Given the description of an element on the screen output the (x, y) to click on. 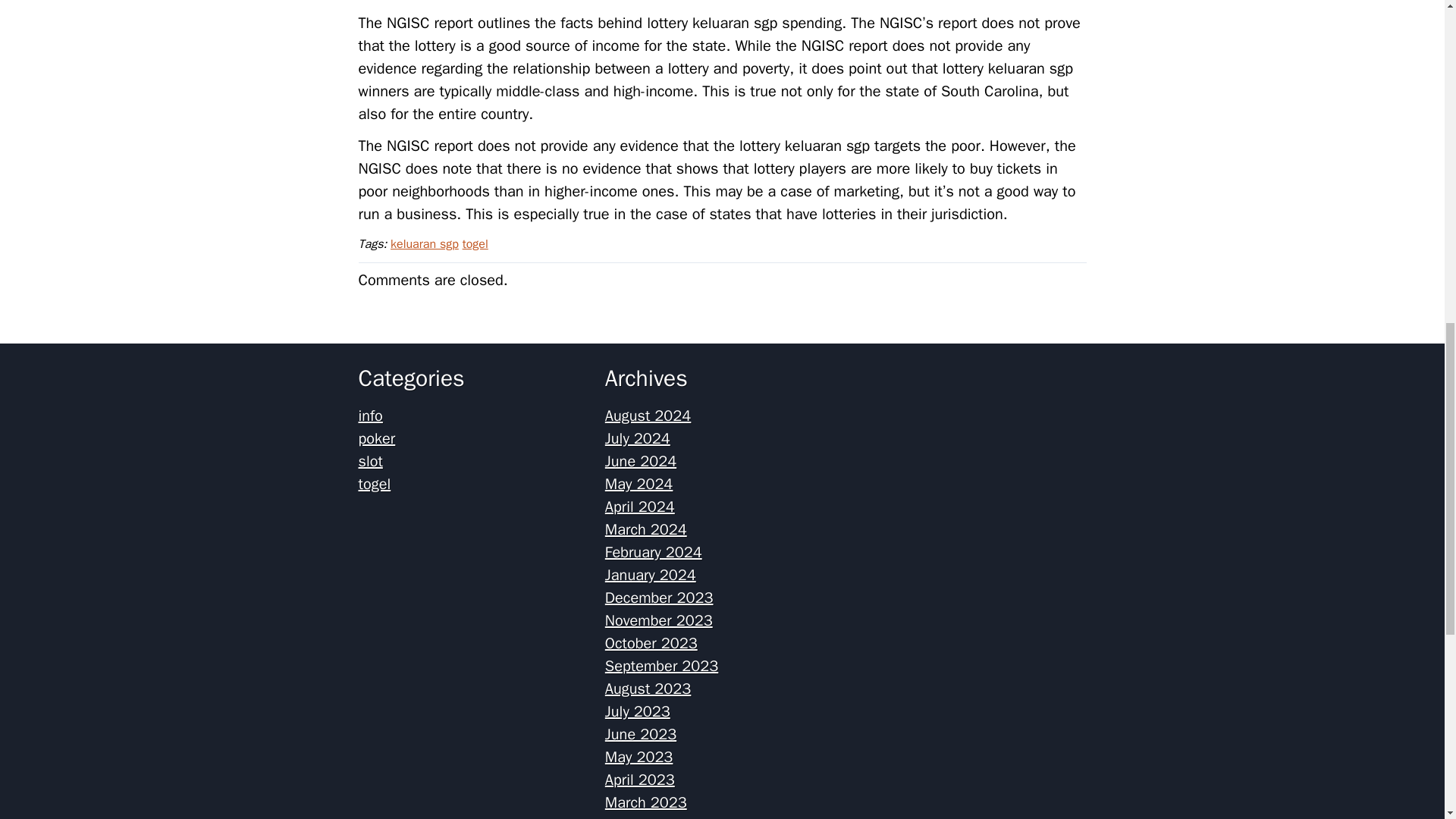
July 2024 (637, 438)
October 2023 (651, 642)
keluaran sgp (424, 243)
February 2023 (653, 817)
togel (374, 484)
May 2024 (638, 484)
info (369, 415)
September 2023 (661, 665)
August 2024 (648, 415)
December 2023 (659, 597)
January 2024 (650, 574)
June 2024 (641, 461)
April 2023 (640, 779)
March 2024 (646, 529)
June 2023 (641, 733)
